Given the description of an element on the screen output the (x, y) to click on. 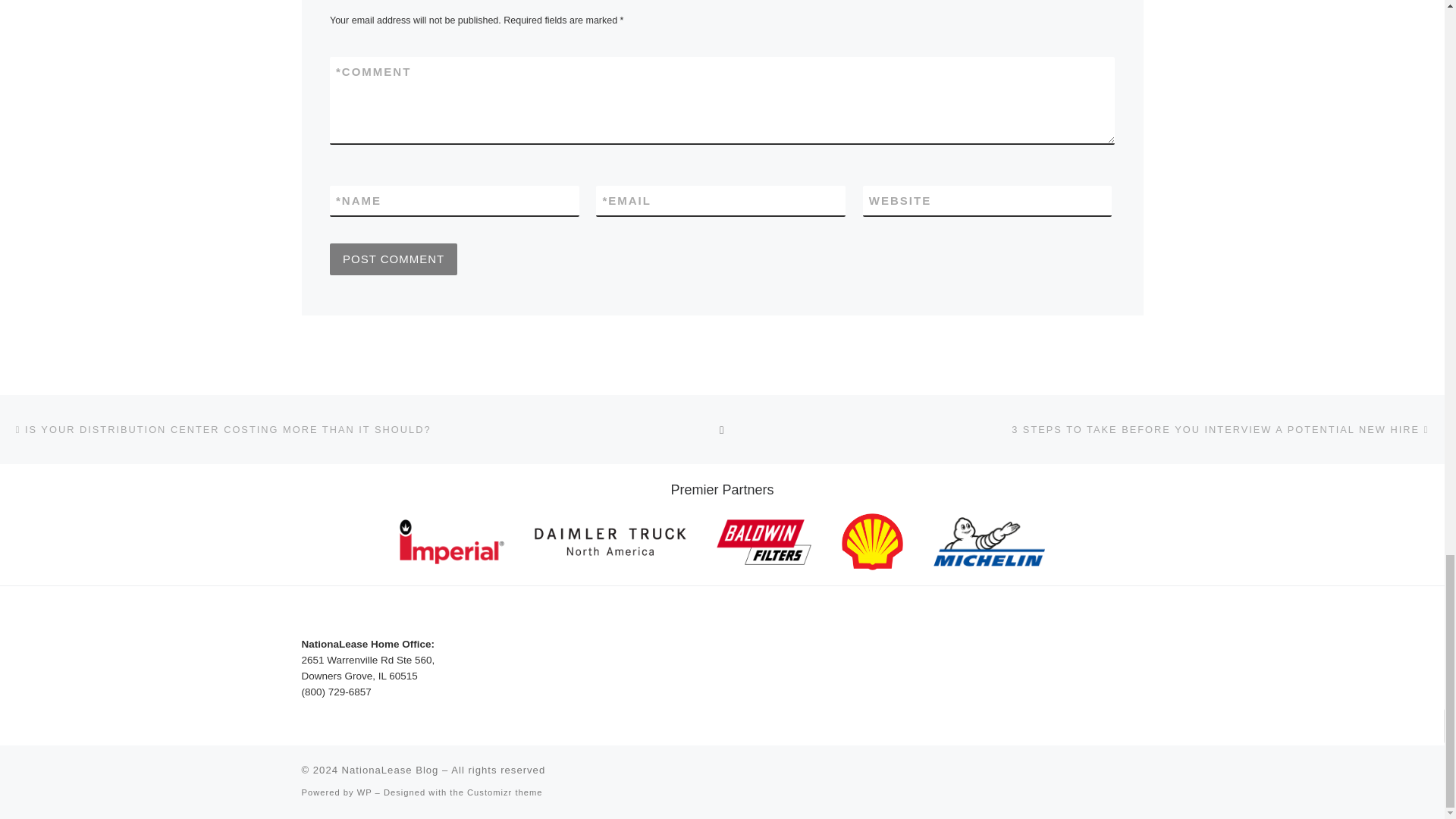
Post Comment (393, 259)
